Given the description of an element on the screen output the (x, y) to click on. 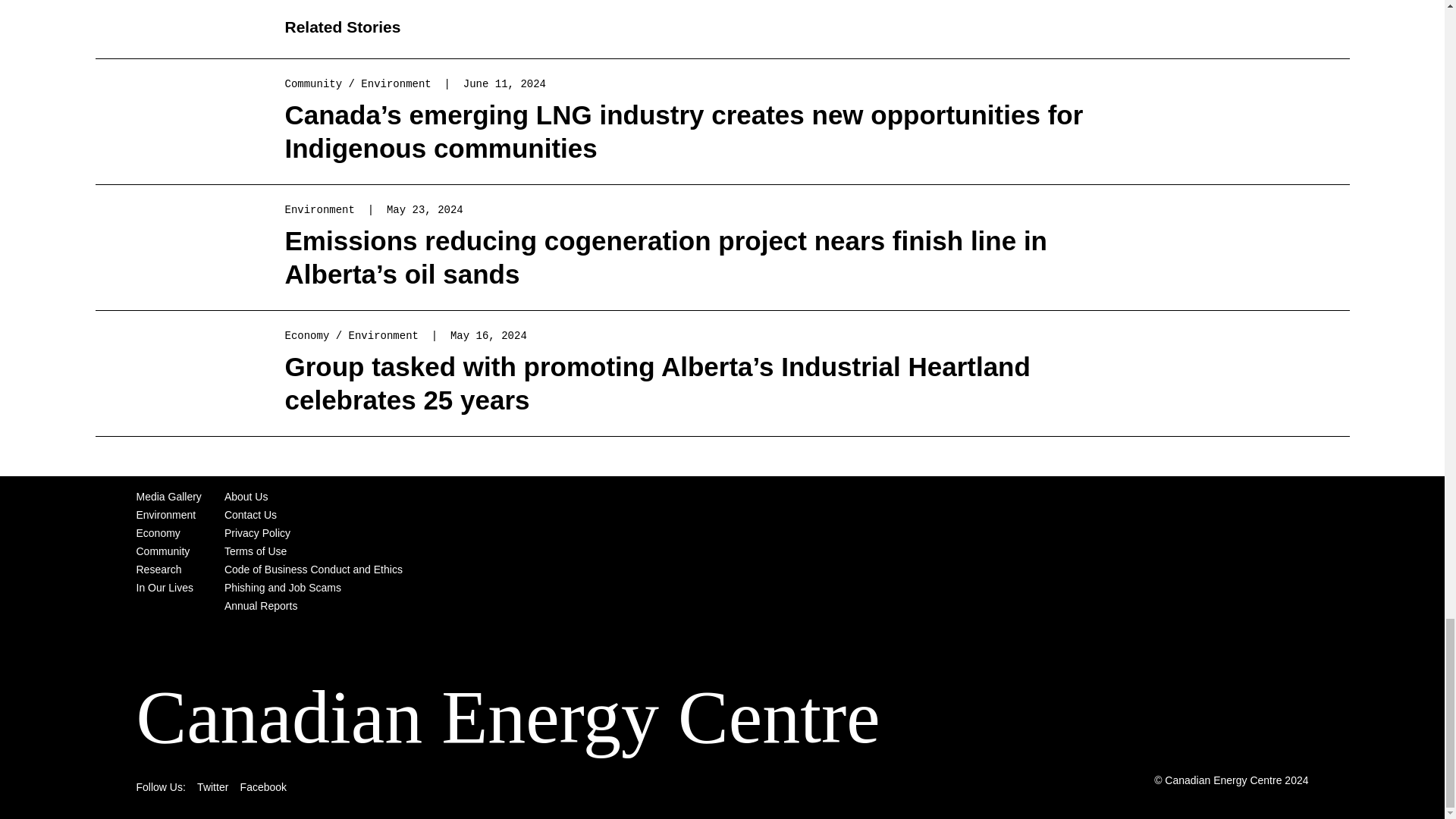
Economy (307, 336)
Environment (320, 209)
Environment (395, 83)
Media Gallery (169, 496)
Environment (384, 336)
Community (313, 83)
